Given the description of an element on the screen output the (x, y) to click on. 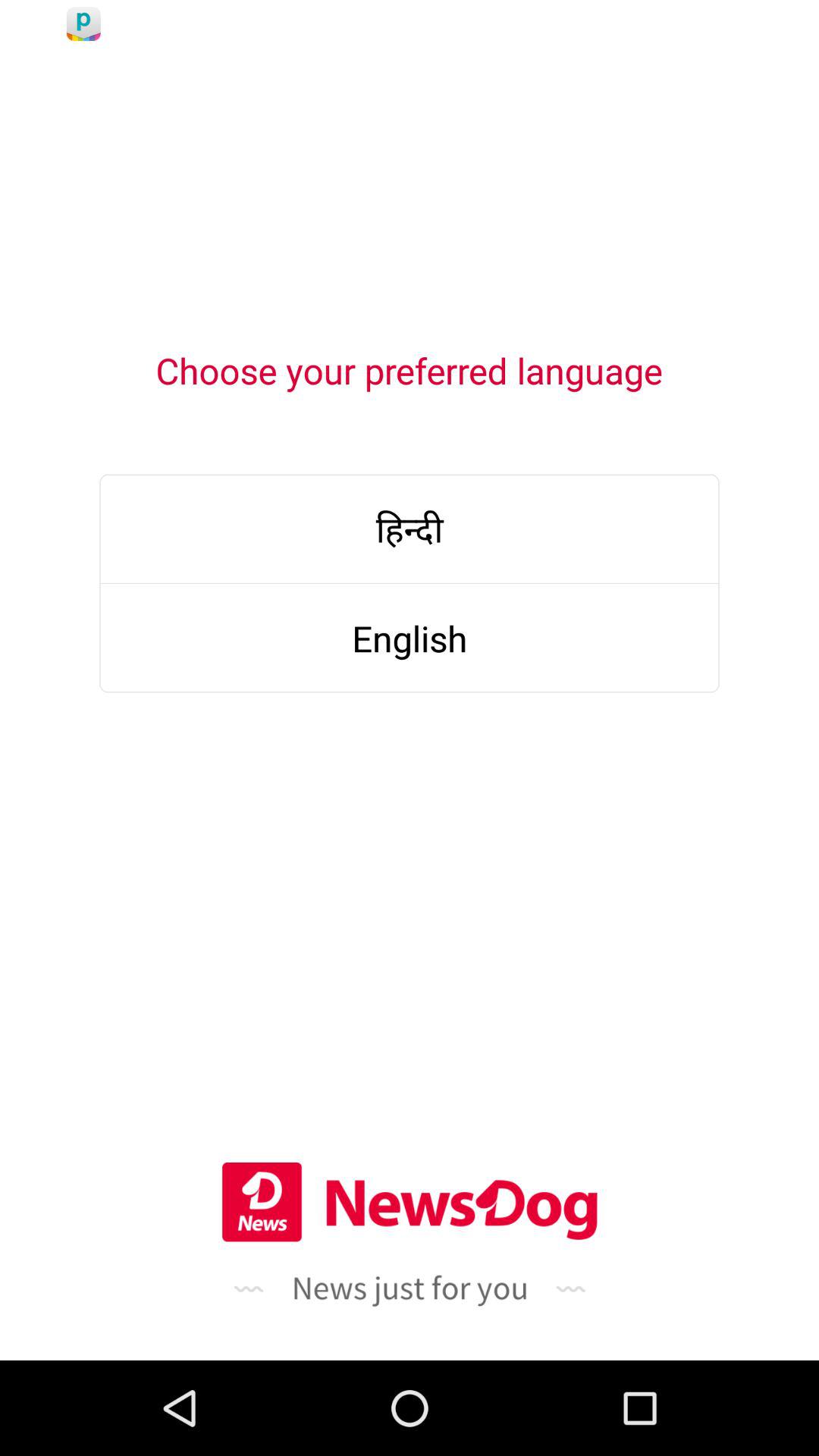
click the english app (409, 638)
